Given the description of an element on the screen output the (x, y) to click on. 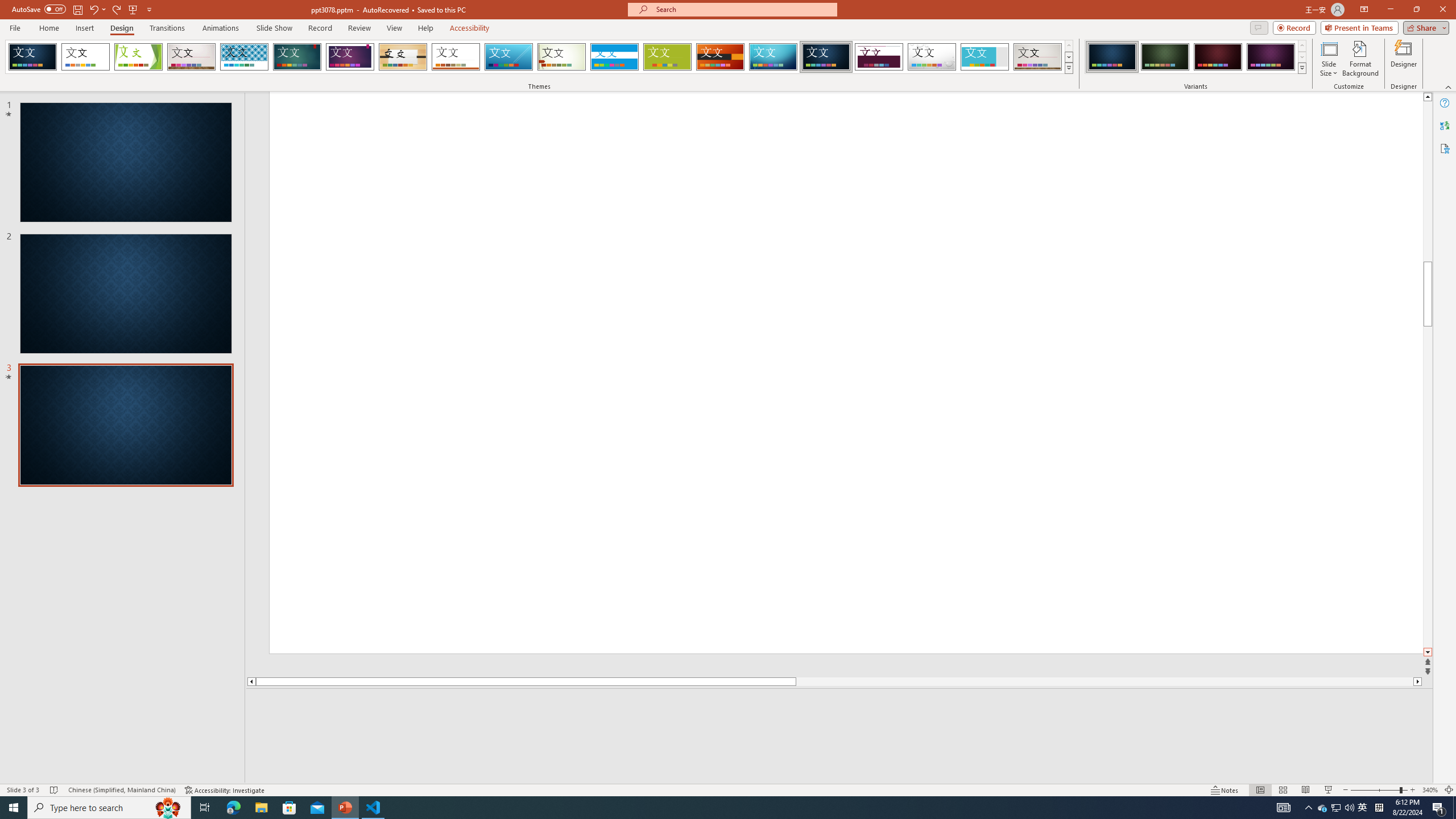
Variants (1301, 67)
Integral (244, 56)
Zoom 340% (1430, 790)
Damask (826, 56)
